Given the description of an element on the screen output the (x, y) to click on. 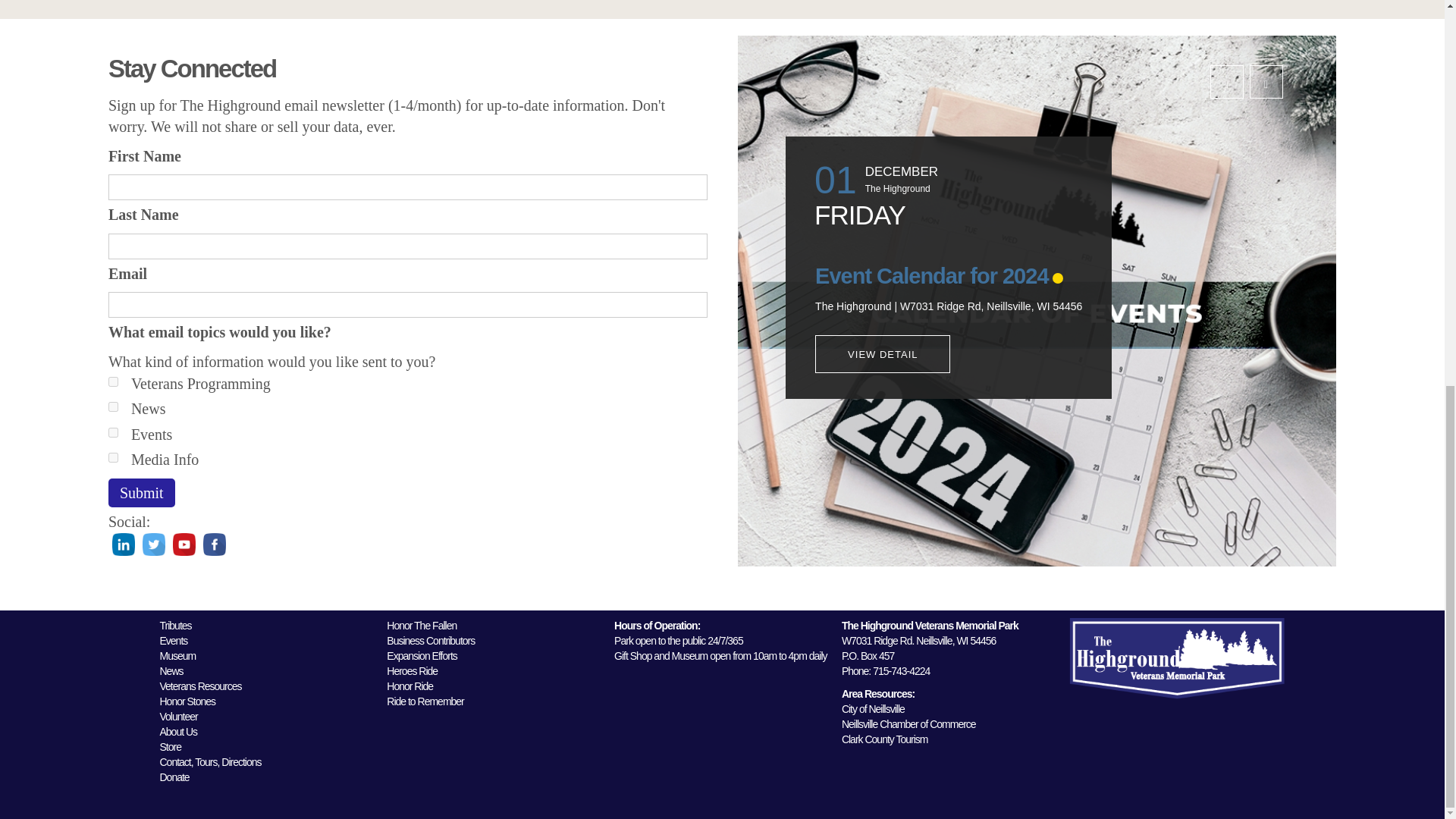
Submit (140, 492)
highgroundsealblue (1176, 658)
News (112, 406)
Events (112, 432)
VeteransProg (112, 381)
Media (112, 457)
Submit (140, 492)
